Given the description of an element on the screen output the (x, y) to click on. 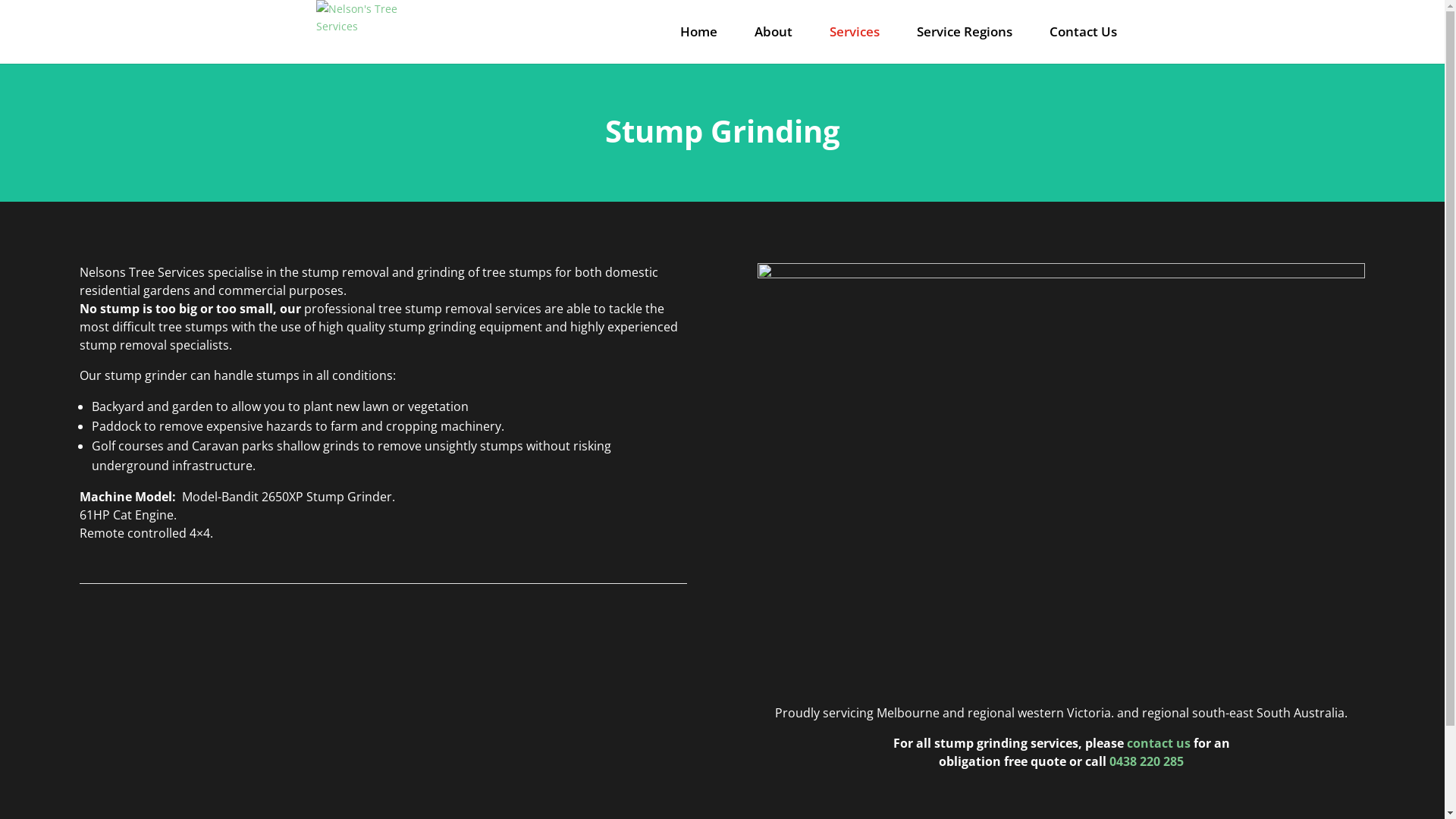
About Element type: text (772, 31)
Service Regions Element type: text (963, 31)
Contact Us Element type: text (1083, 31)
Services Element type: text (854, 31)
Nelsons-Stump-1 Element type: hover (1061, 273)
0438 220 285 Element type: text (1146, 761)
Home Element type: text (697, 31)
contact us Element type: text (1158, 742)
